Given the description of an element on the screen output the (x, y) to click on. 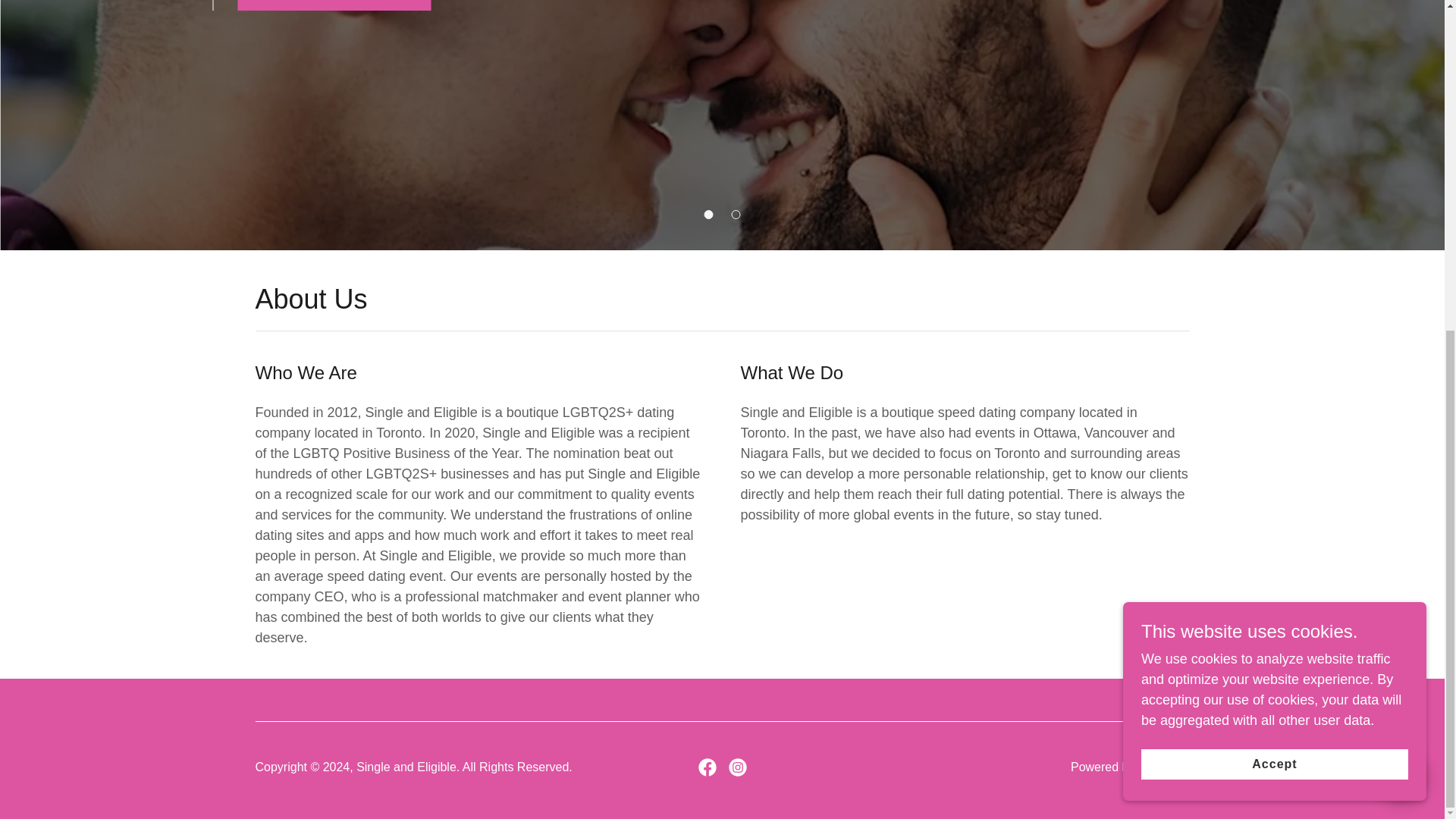
Start Your Romance (333, 5)
Accept (1274, 214)
GoDaddy (1163, 766)
